Given the description of an element on the screen output the (x, y) to click on. 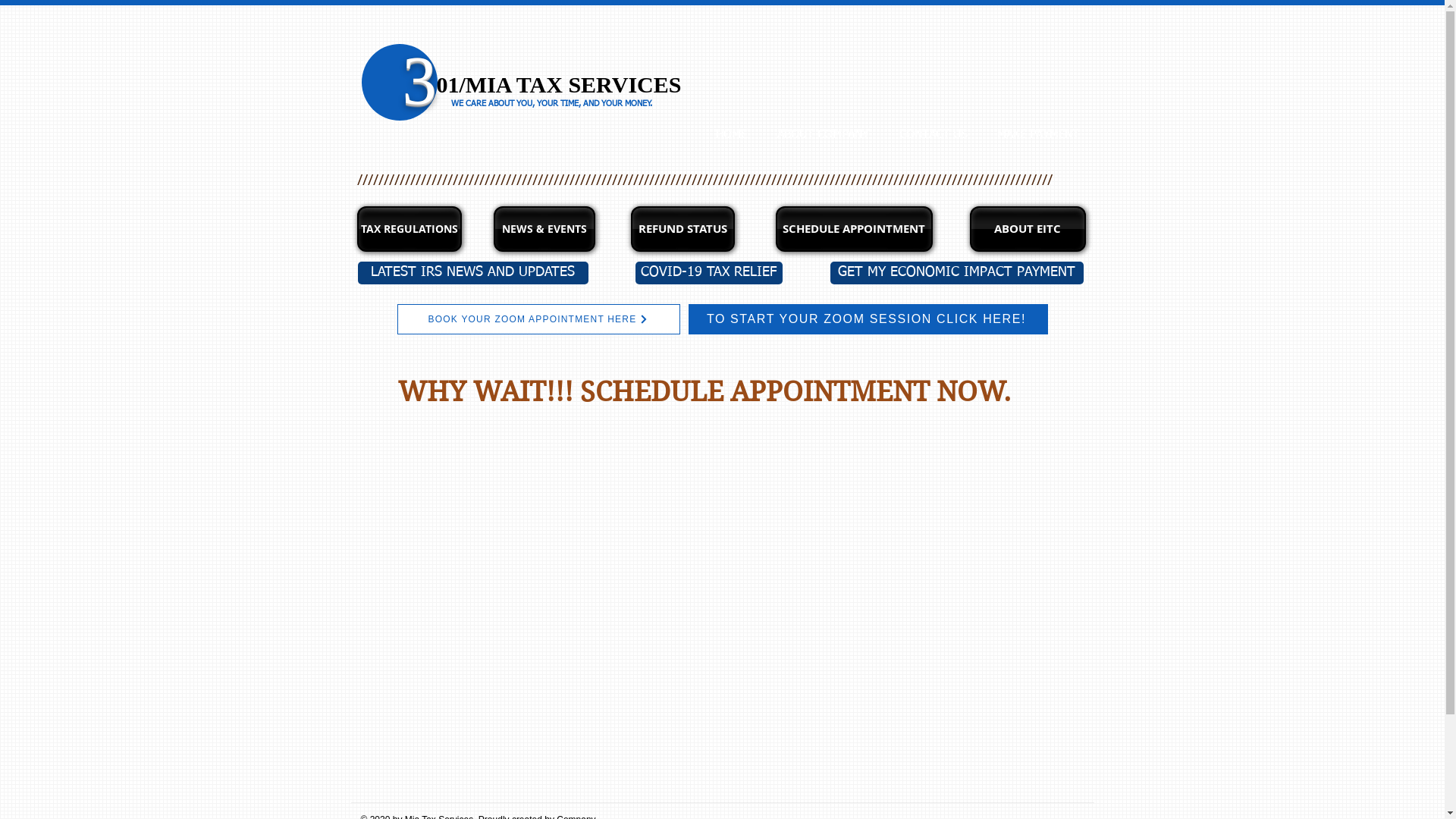
NEWS & EVENTS Element type: text (543, 228)
SCHEDULE APPOINTMENT Element type: text (853, 228)
CONTACT US Element type: text (933, 134)
TO START YOUR ZOOM SESSION CLICK HERE! Element type: text (868, 319)
MAKE PAYMENT Element type: text (1037, 134)
LATEST IRS NEWS AND UPDATES Element type: text (472, 272)
REFUND STATUS Element type: text (682, 228)
GET MY ECONOMIC IMPACT PAYMENT Element type: text (955, 272)
COVID-19 TAX RELIEF Element type: text (708, 272)
BOOK YOUR ZOOM APPOINTMENT HERE Element type: text (538, 319)
TAX REGULATIONS Element type: text (408, 228)
ABOUT COMPANY Element type: text (822, 134)
HOME Element type: text (731, 134)
vcita Online Scheduling Element type: hover (705, 609)
ABOUT EITC Element type: text (1027, 228)
